Given the description of an element on the screen output the (x, y) to click on. 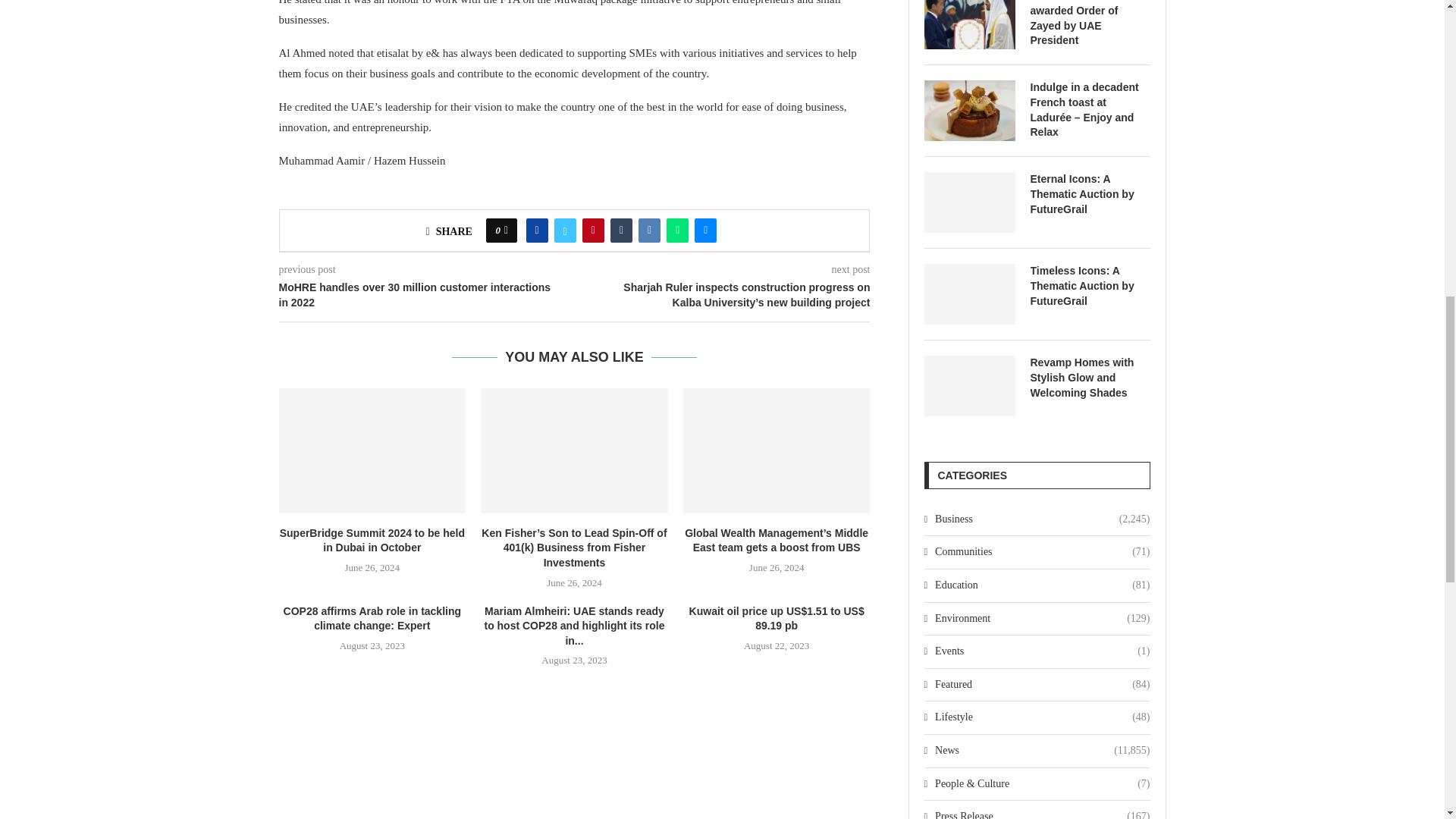
Indonesian President awarded Order of Zayed by UAE President (1089, 23)
Timeless Icons: A Thematic Auction by FutureGrail (968, 293)
Indonesian President awarded Order of Zayed by UAE President (968, 24)
Timeless Icons: A Thematic Auction by FutureGrail (1089, 285)
Revamp Homes with Stylish Glow and Welcoming Shades (968, 385)
SuperBridge Summit 2024 to be held in Dubai in October (372, 450)
Revamp Homes with Stylish Glow and Welcoming Shades (1089, 377)
Eternal Icons: A Thematic Auction by FutureGrail (968, 201)
Eternal Icons: A Thematic Auction by FutureGrail (1089, 194)
